Given the description of an element on the screen output the (x, y) to click on. 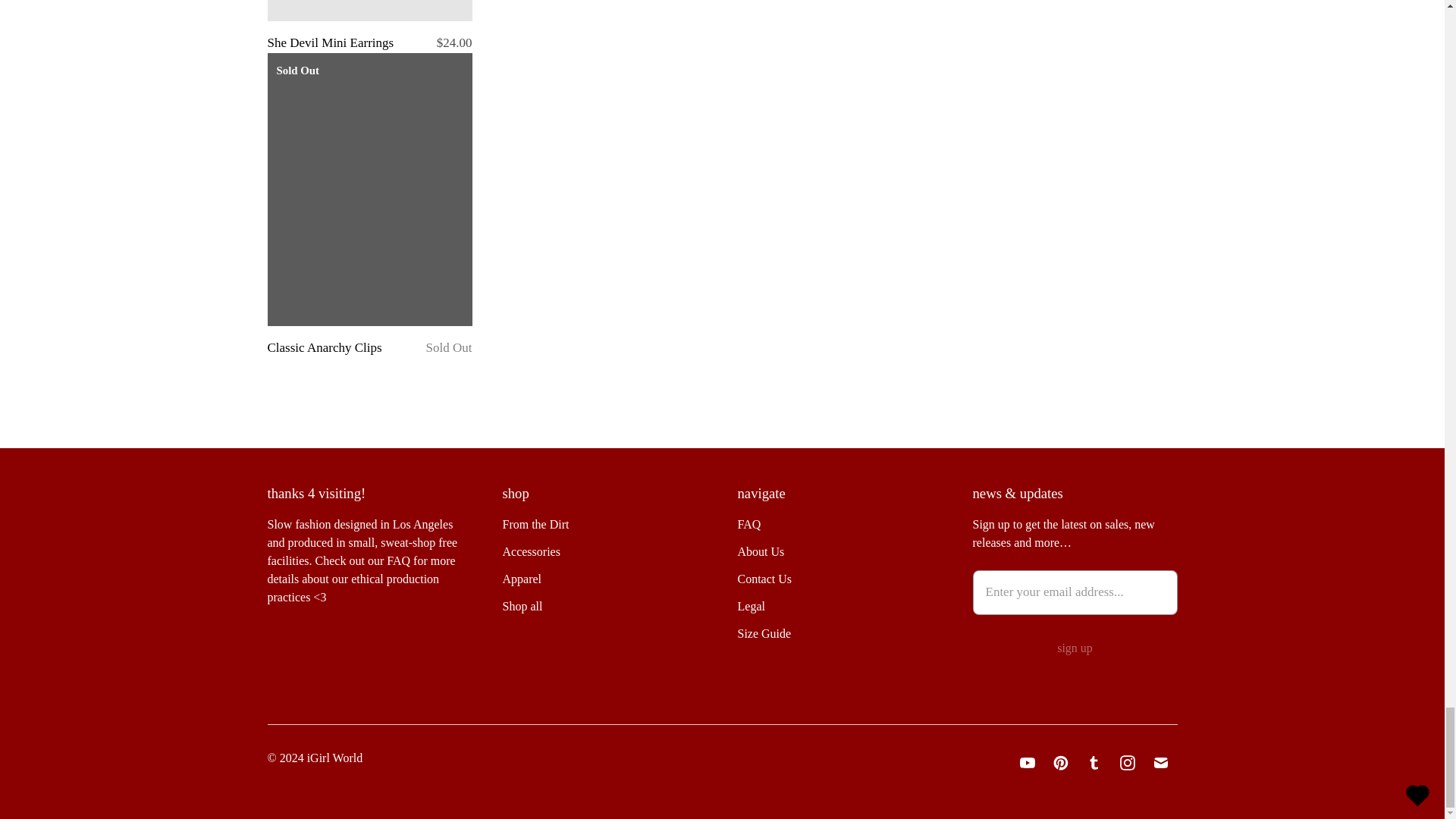
Sign Up (1074, 647)
